Given the description of an element on the screen output the (x, y) to click on. 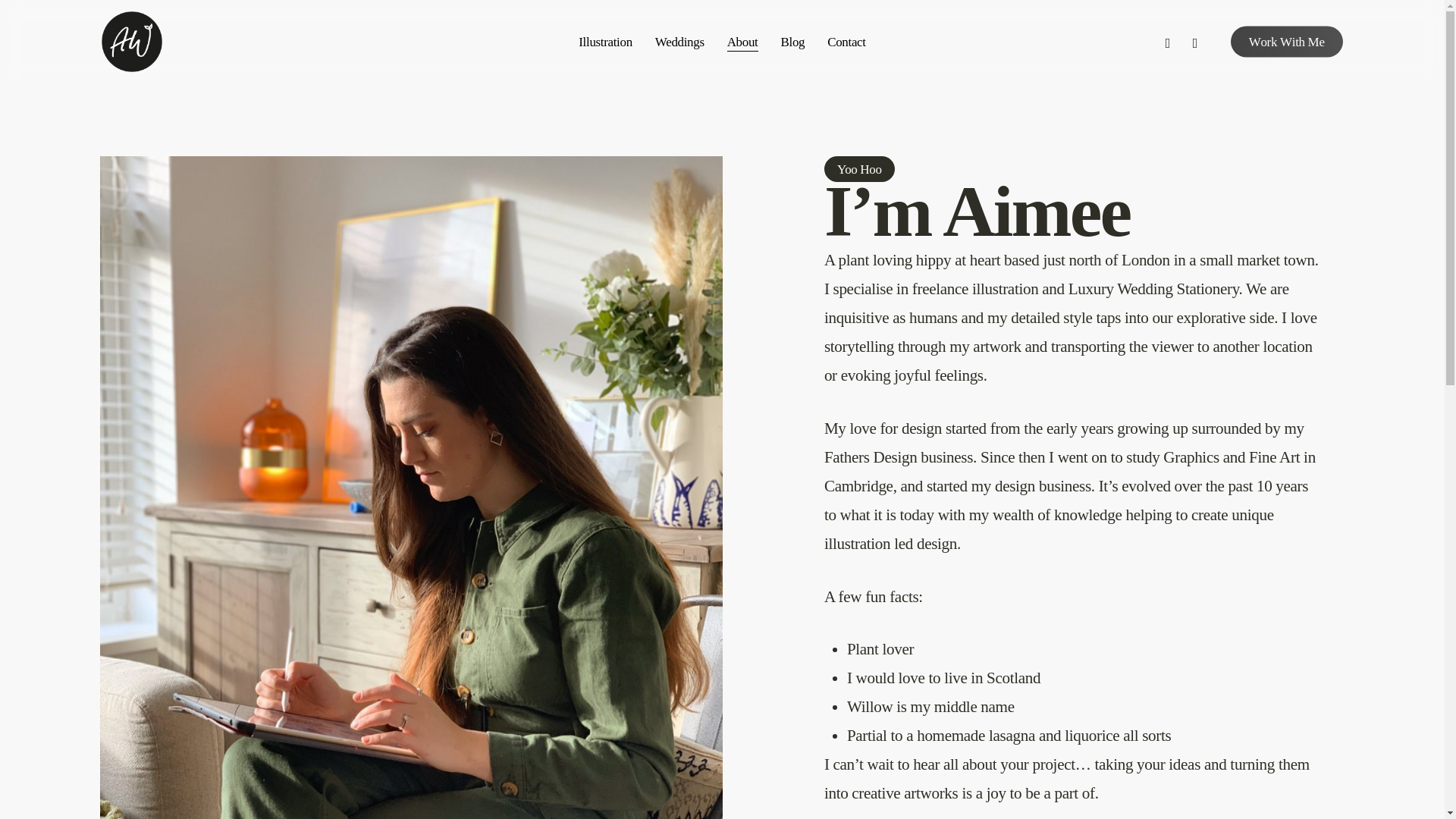
About (742, 41)
instagram (1194, 40)
Work With Me (1286, 40)
Contact (846, 41)
pinterest (1167, 40)
Illustration (604, 41)
Blog (792, 41)
Weddings (679, 41)
